Given the description of an element on the screen output the (x, y) to click on. 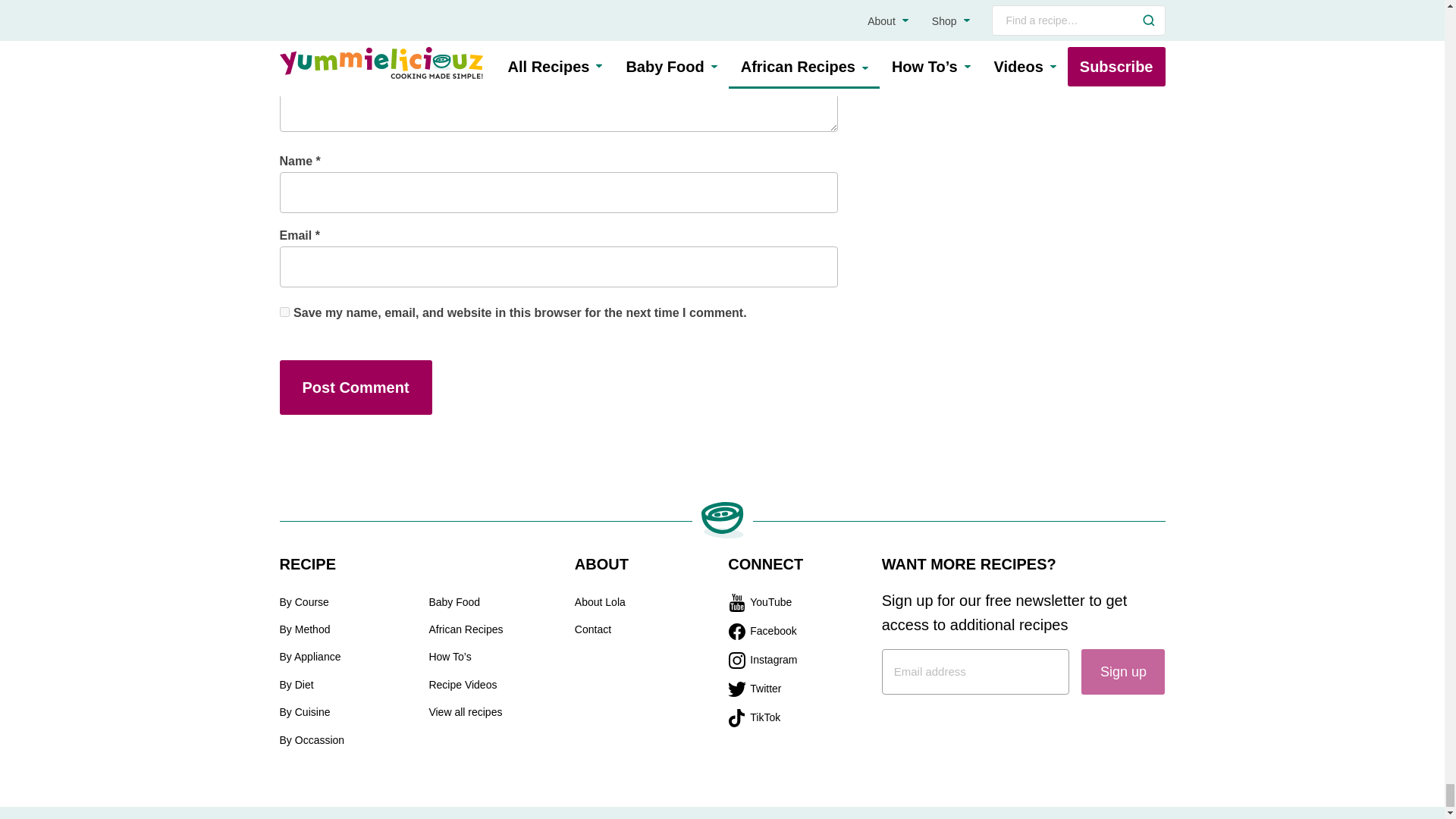
yes (283, 311)
Sign up (1122, 671)
Post Comment (354, 387)
